Given the description of an element on the screen output the (x, y) to click on. 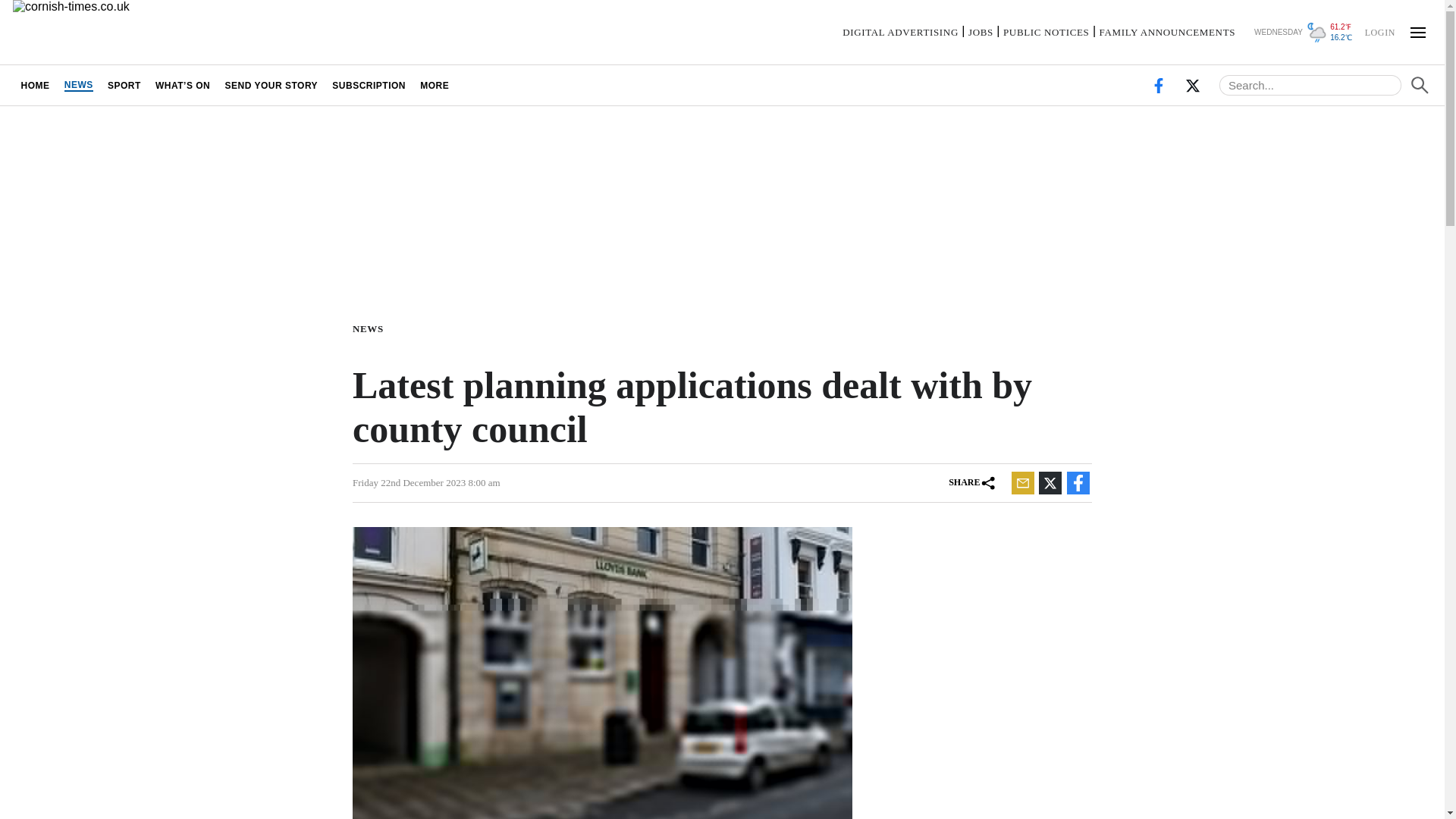
NEWS (78, 85)
NEWS (371, 328)
SEND YOUR STORY (270, 85)
MORE (435, 85)
SPORT (124, 85)
LOGIN (1379, 31)
FAMILY ANNOUNCEMENTS (1166, 32)
HOME (34, 85)
SUBSCRIPTION (368, 85)
